Given the description of an element on the screen output the (x, y) to click on. 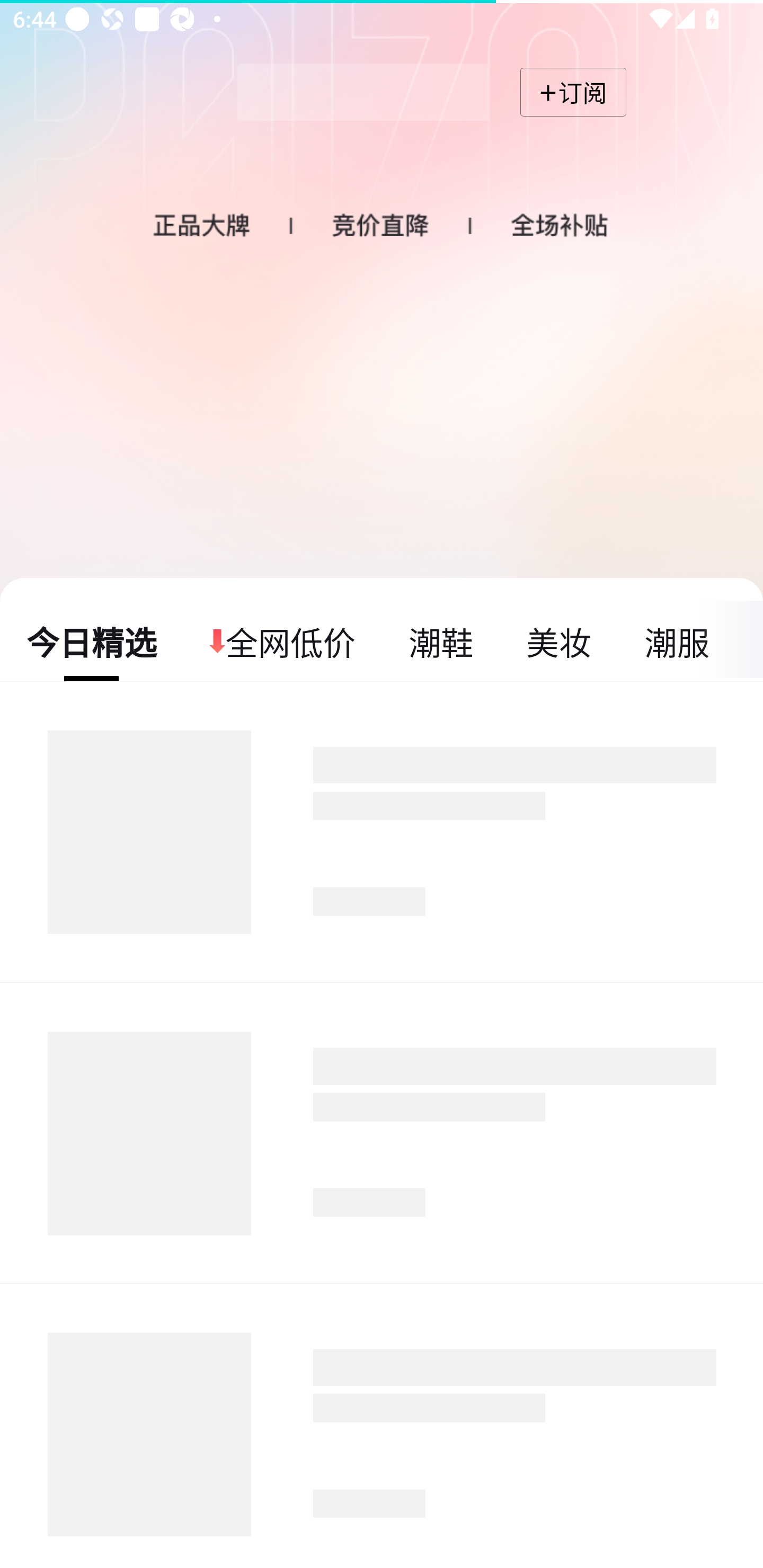
+订阅 (572, 92)
今日精选 (92, 640)
9e7fc8ca-86cd-3a08-4a56-57b9d219ca85-30-45 全网低价 (283, 640)
潮鞋 (440, 640)
美妆 (558, 640)
潮服 (676, 640)
